Given the description of an element on the screen output the (x, y) to click on. 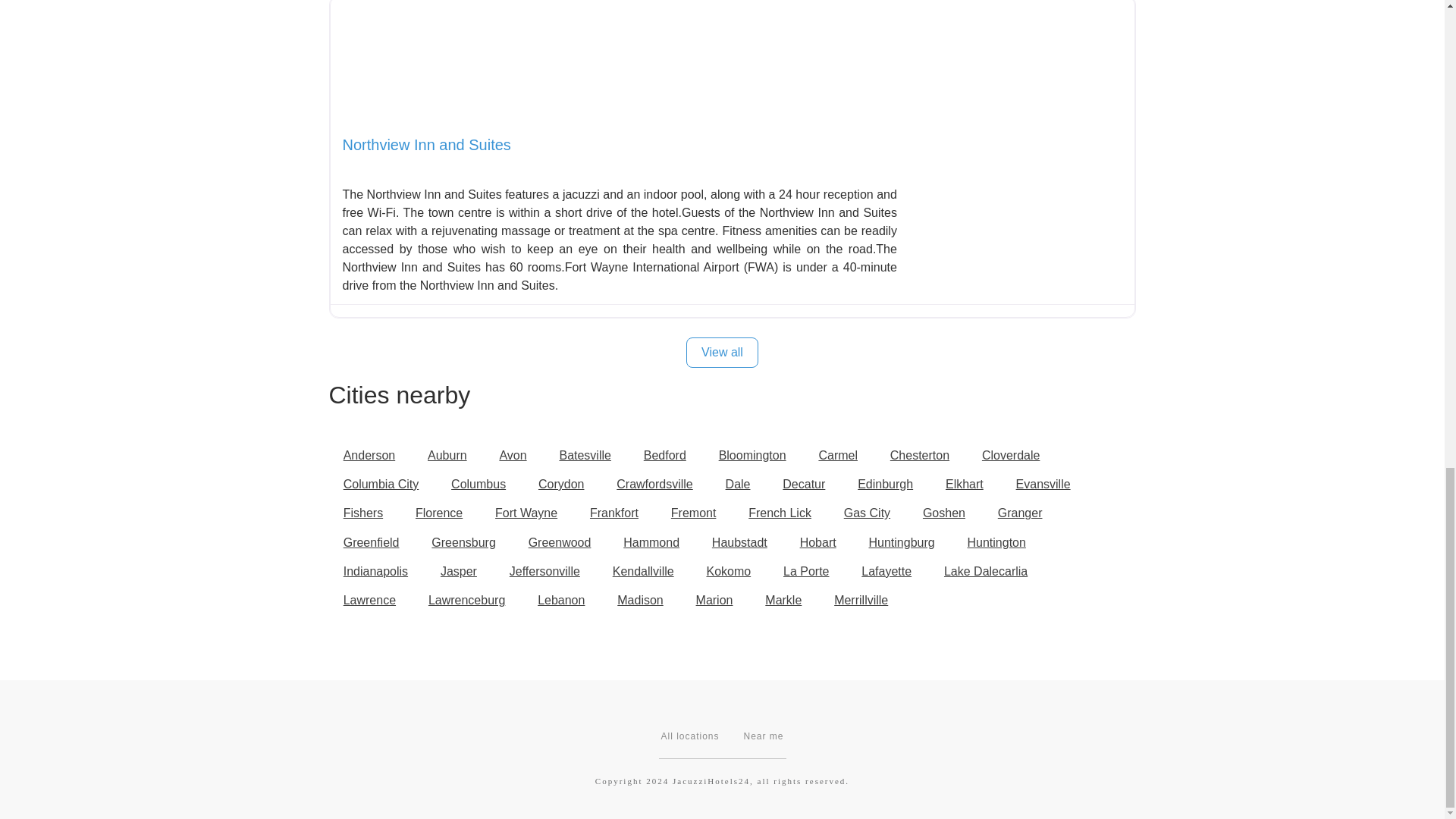
Crawfordsville (654, 484)
Fort Wayne (526, 512)
Fremont (693, 512)
Frankfort (613, 512)
Auburn (447, 454)
Anderson (369, 454)
Columbia City (381, 484)
Elkhart (964, 484)
Avon (512, 454)
Dale (737, 484)
